Given the description of an element on the screen output the (x, y) to click on. 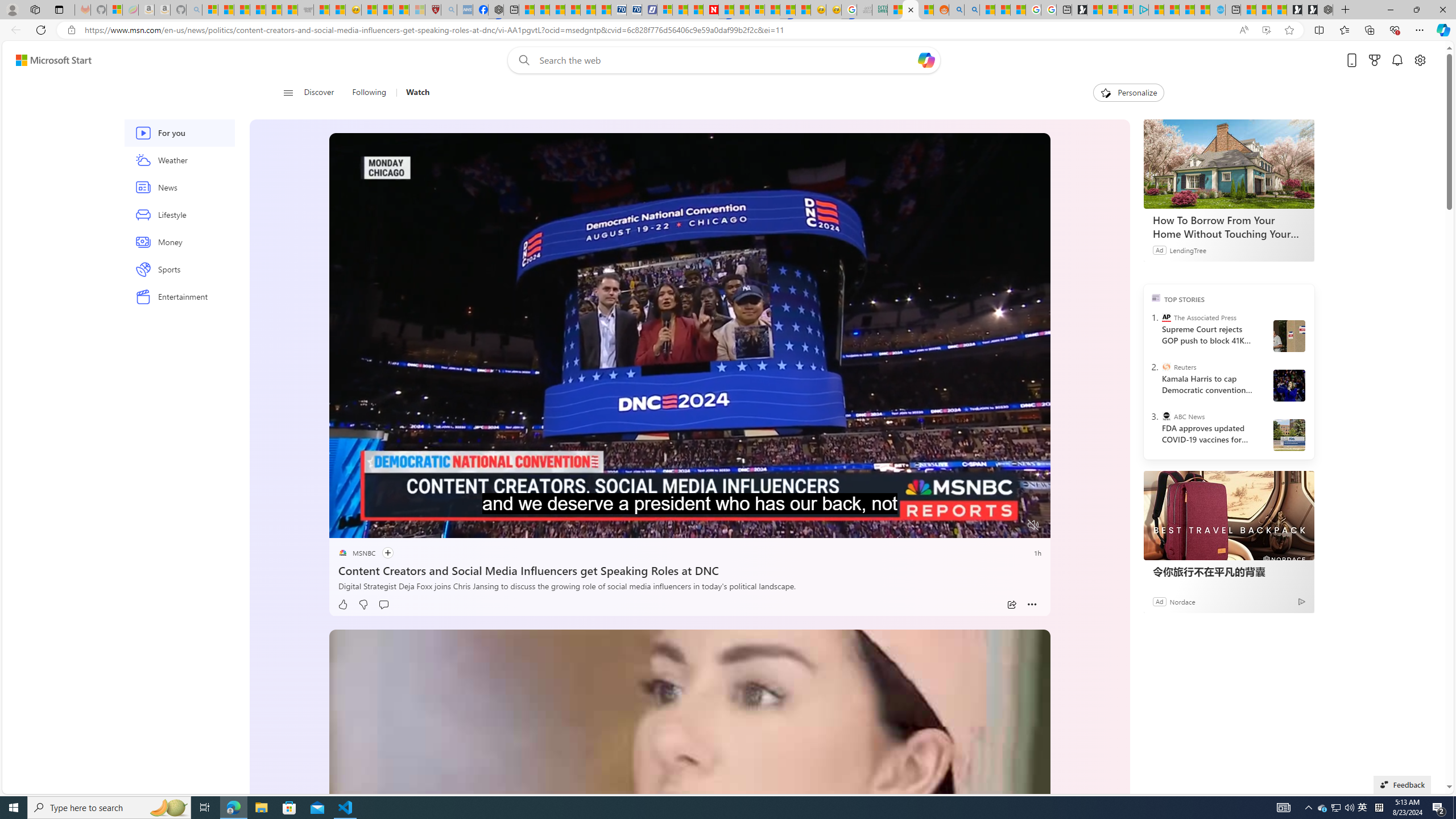
The Associated Press (1165, 316)
Share (1010, 604)
Reuters (1165, 366)
Unmute (1033, 524)
